Given the description of an element on the screen output the (x, y) to click on. 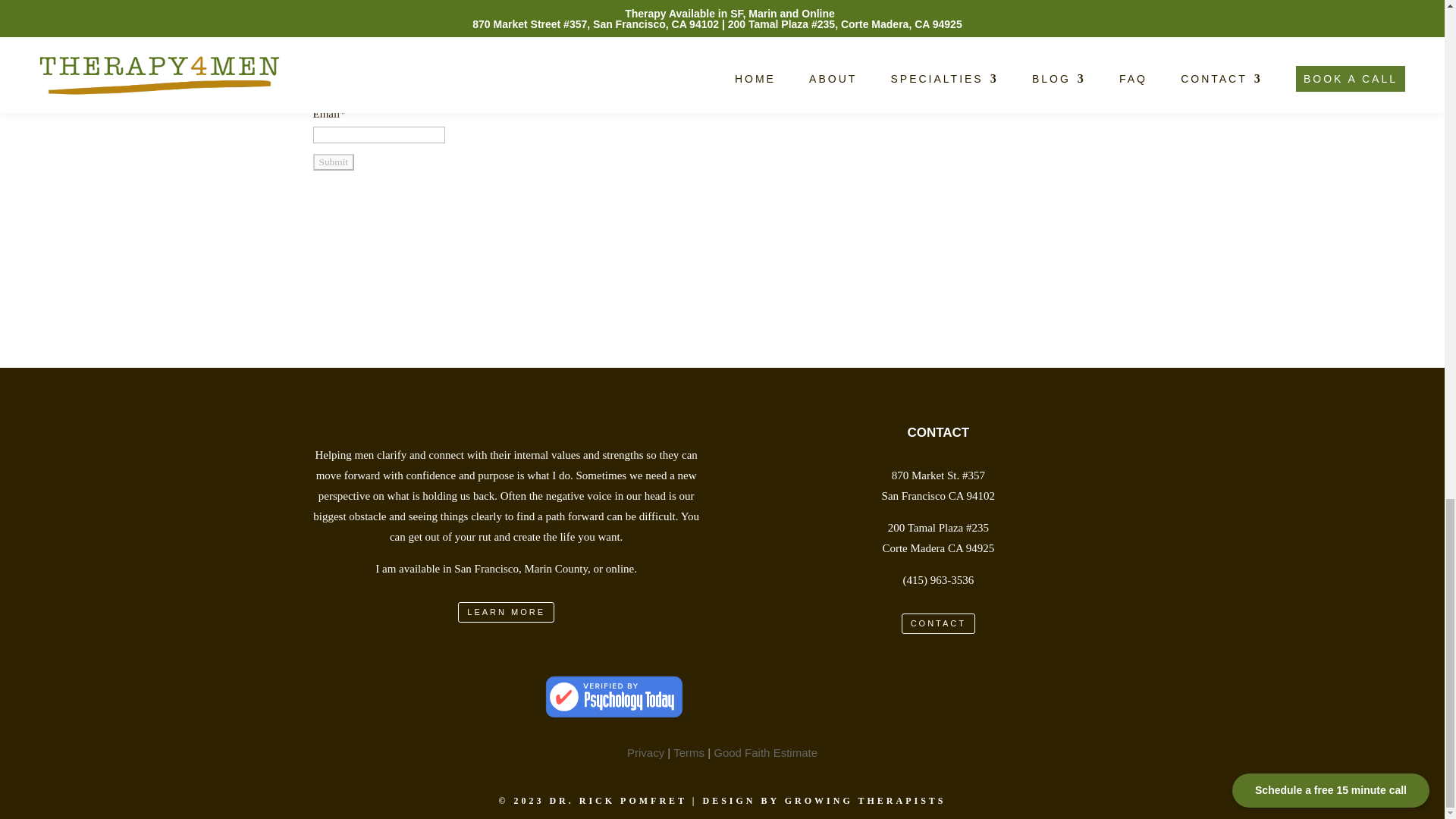
Rick Pomfret (613, 697)
Submit (333, 161)
